Given the description of an element on the screen output the (x, y) to click on. 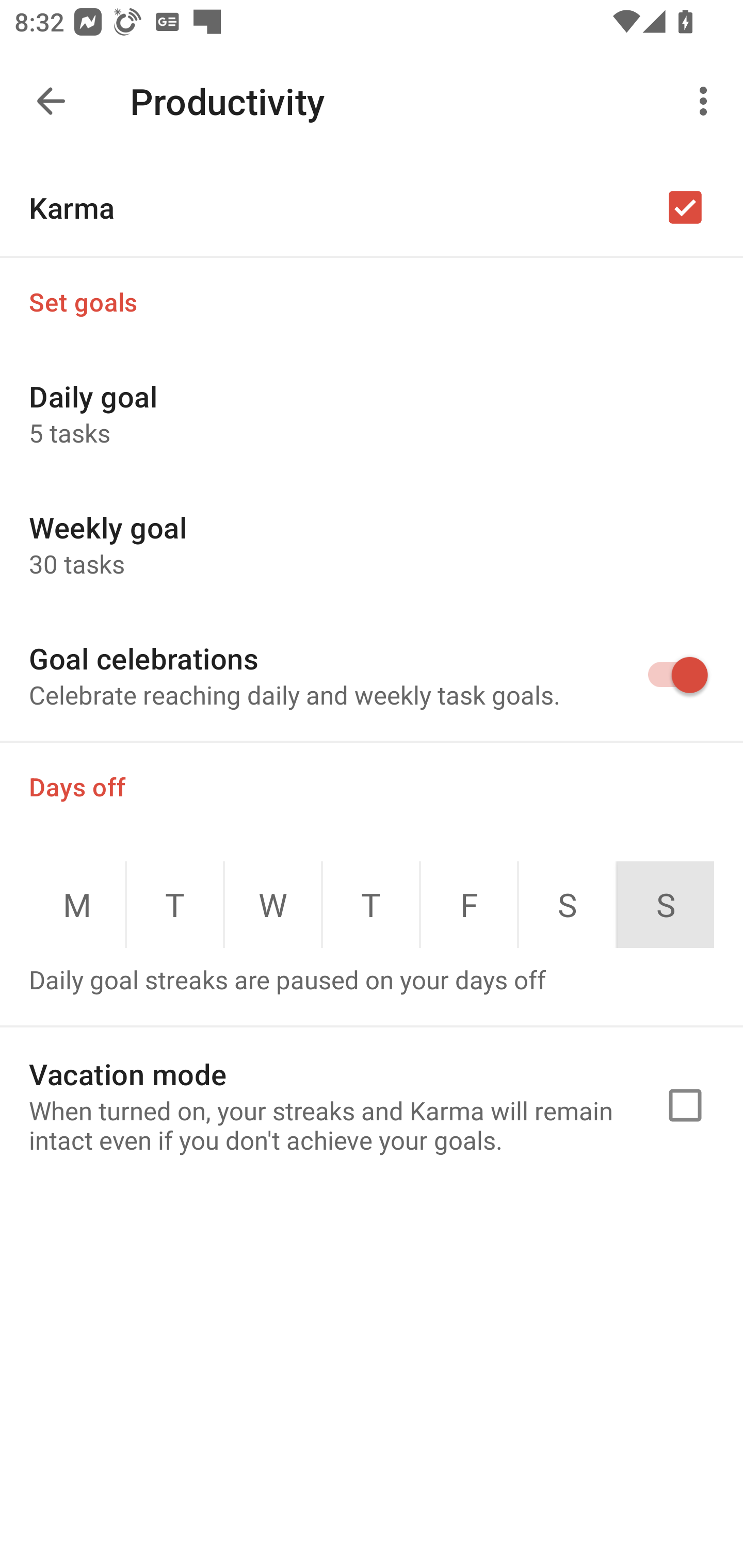
Navigate up (50, 101)
More options (706, 101)
Karma (371, 206)
Daily goal 5 tasks (371, 413)
Weekly goal 30 tasks (371, 543)
M (76, 904)
T (174, 904)
W (272, 904)
T (371, 904)
F (469, 904)
S (567, 904)
S (665, 904)
